Given the description of an element on the screen output the (x, y) to click on. 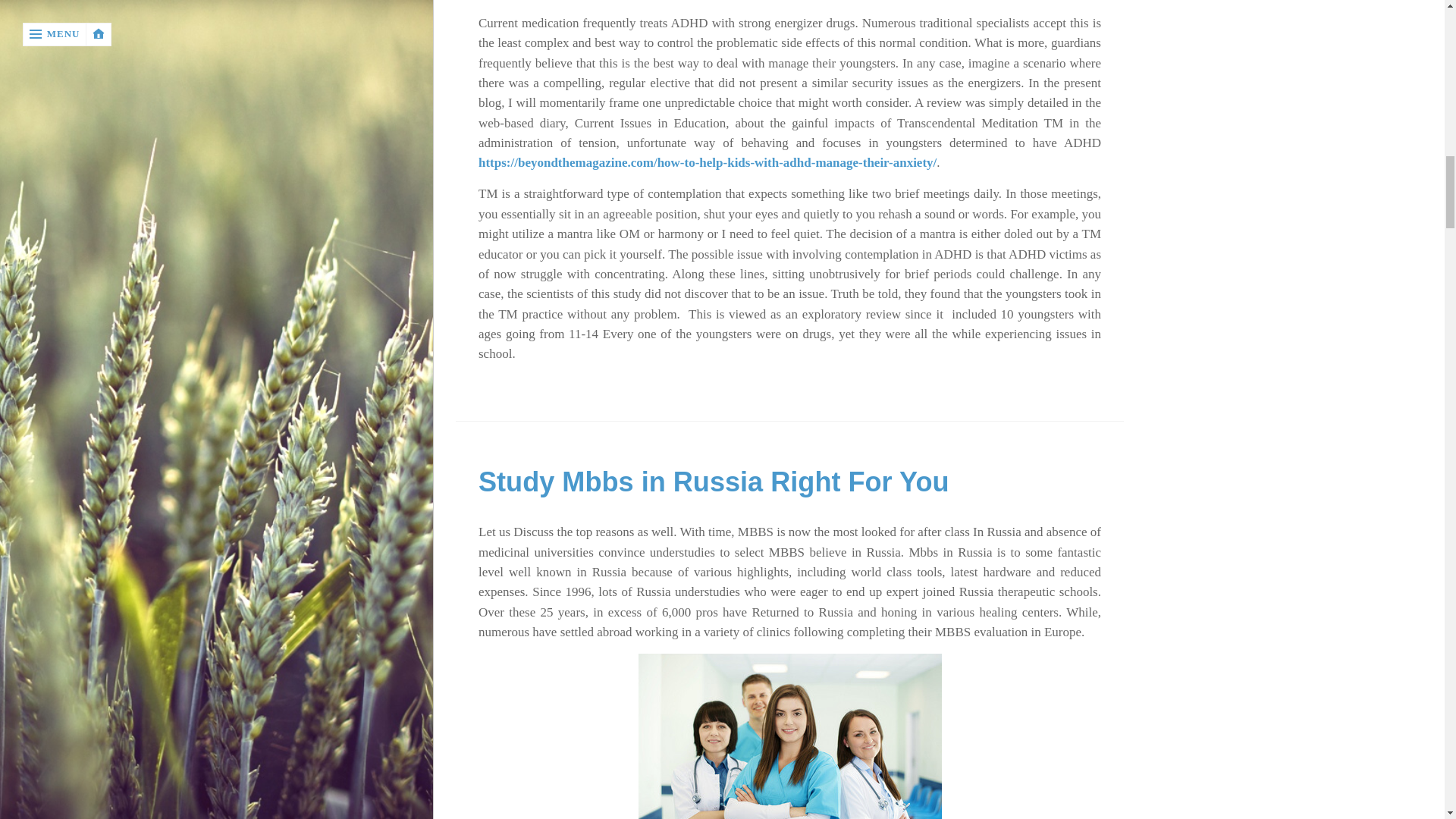
Permalink for: Study Mbbs in Russia Right For You (714, 481)
Study Mbbs in Russia Right For You (714, 481)
